Given the description of an element on the screen output the (x, y) to click on. 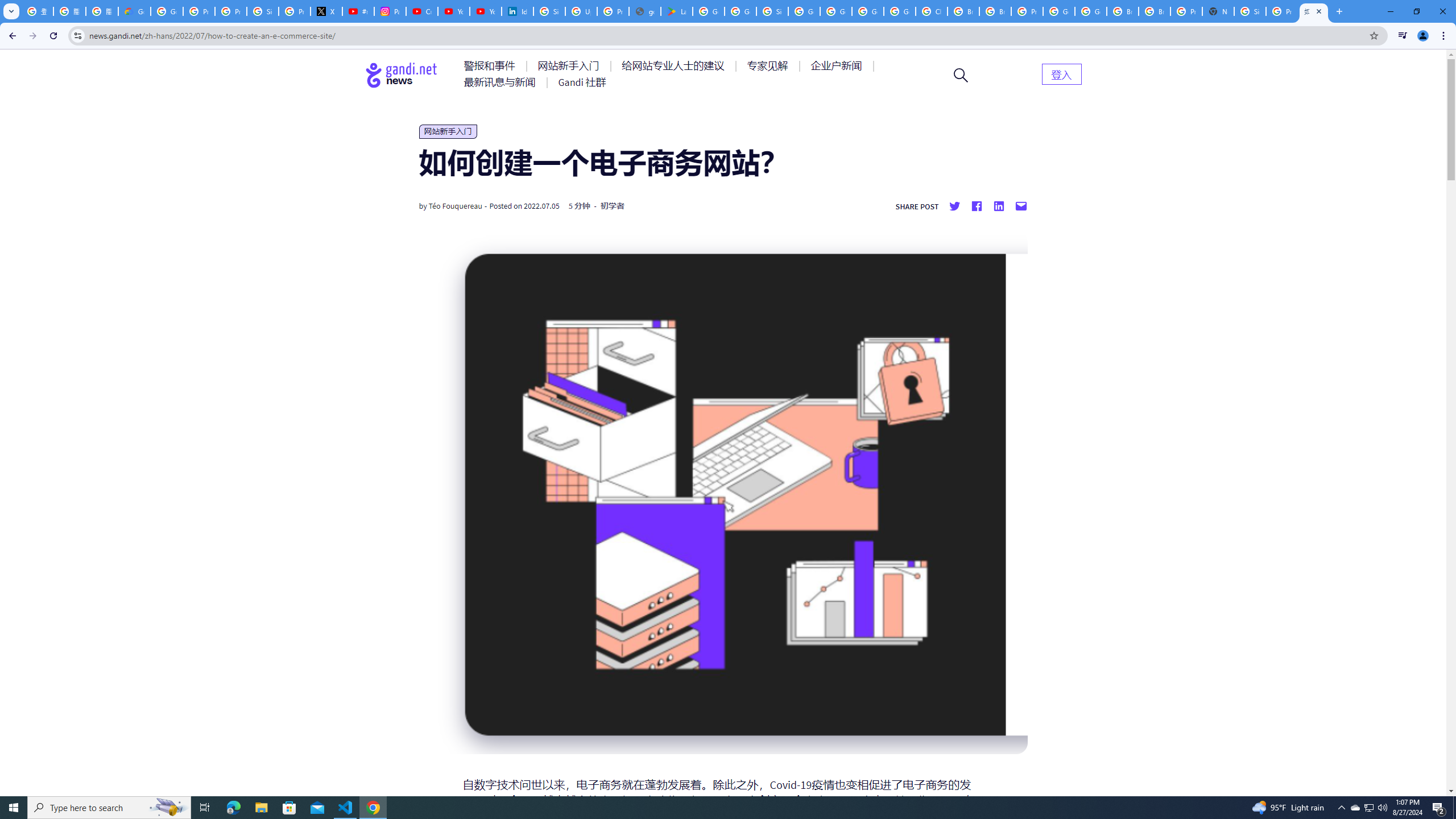
New Tab (1217, 11)
